Given the description of an element on the screen output the (x, y) to click on. 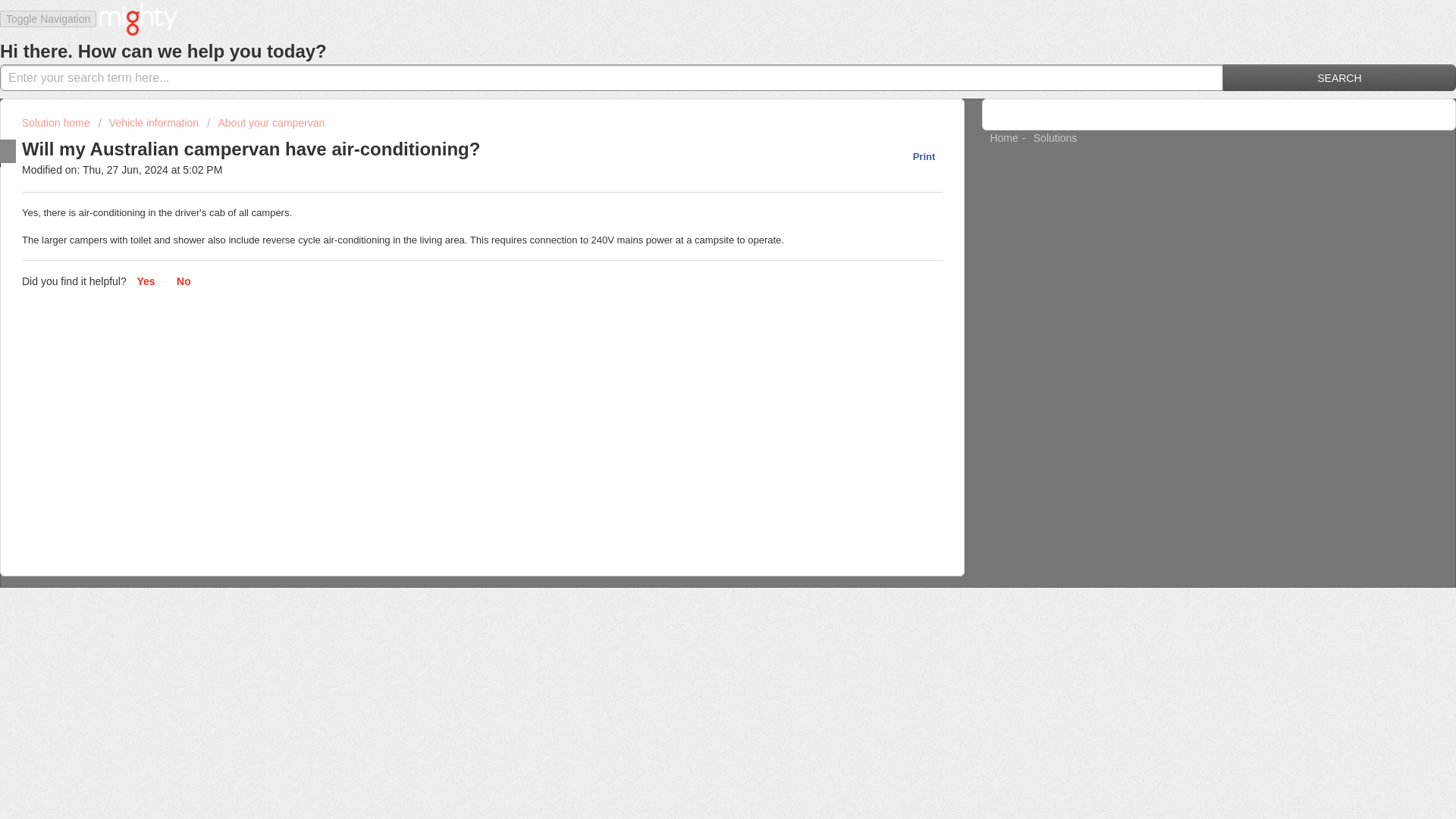
Vehicle information (147, 122)
Solutions (1055, 137)
About your campervan (265, 122)
Home (1003, 137)
Toggle Navigation (48, 18)
Print (916, 156)
Print this Article (916, 156)
Solution home (57, 122)
